Given the description of an element on the screen output the (x, y) to click on. 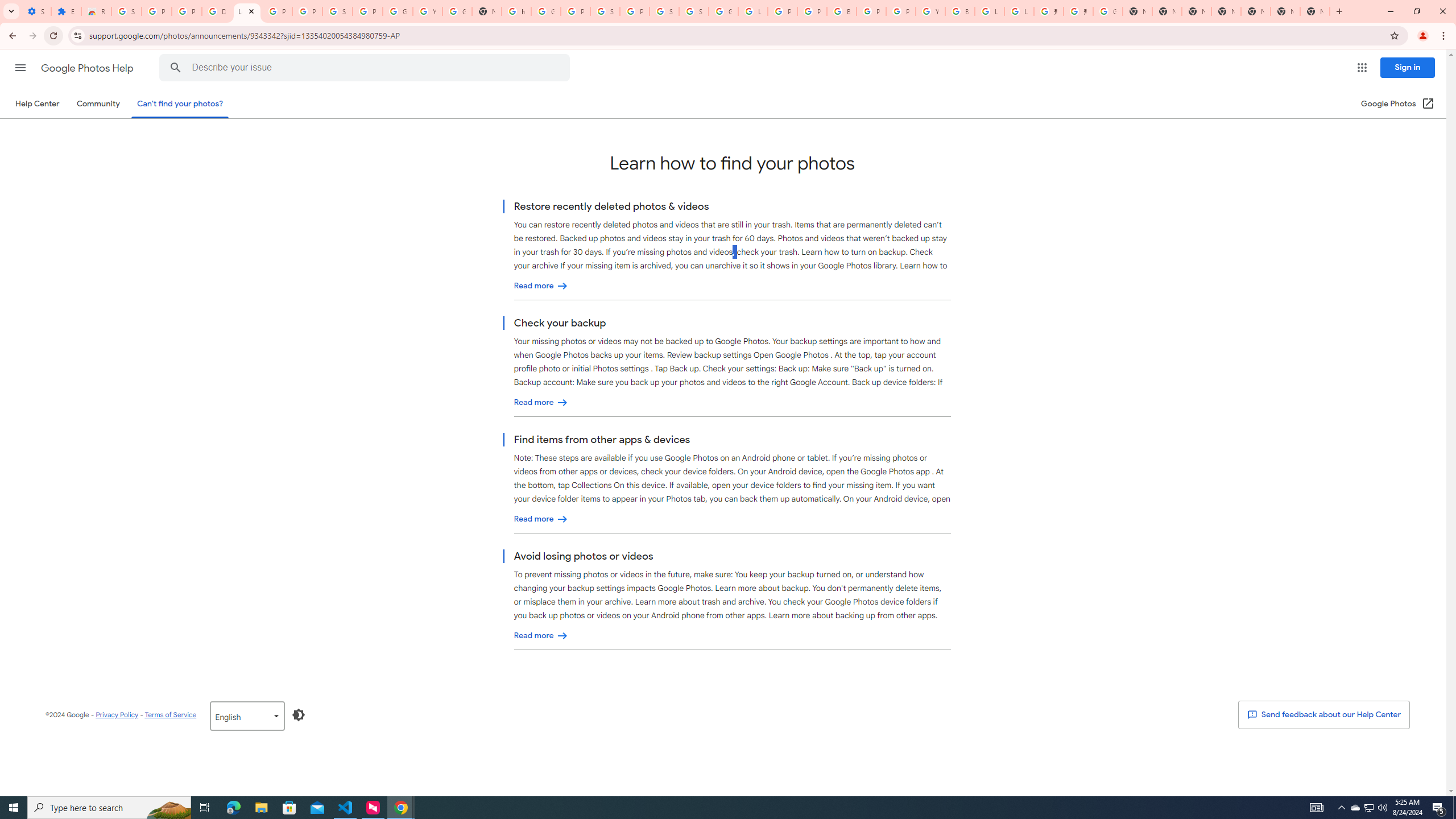
New Tab (1314, 11)
 Send feedback about our Help Center (1323, 714)
Restore recently deleted photos & videos (541, 286)
YouTube (930, 11)
https://scholar.google.com/ (515, 11)
Settings - On startup (36, 11)
